Given the description of an element on the screen output the (x, y) to click on. 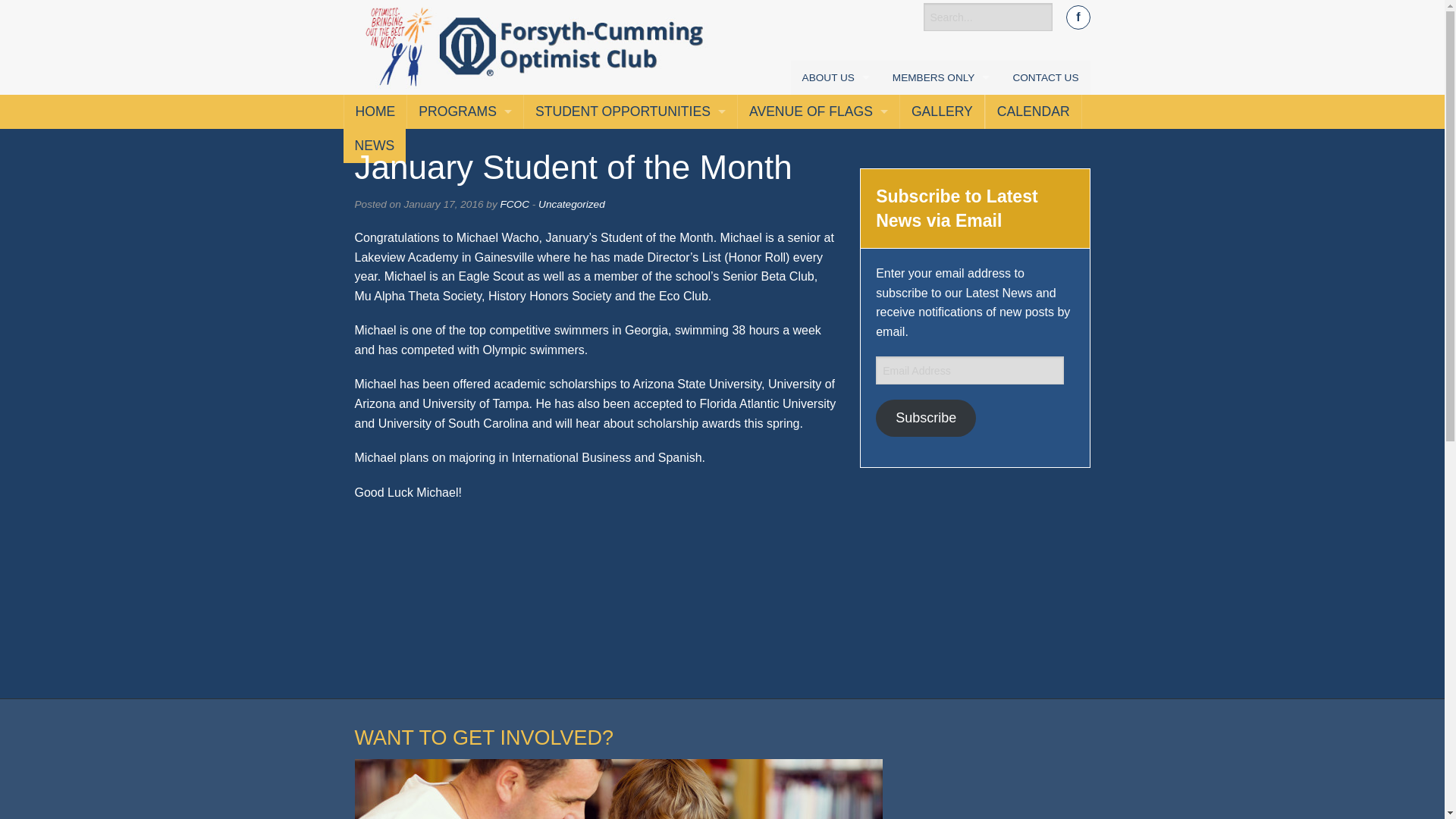
ABOUT US (835, 77)
CORRESPONDENCE (940, 145)
ESSAY CONTEST (630, 179)
LOCAL SCOUTING PARTNERSHIPS (818, 213)
PURPOSE (835, 179)
PROCLAMATION (835, 213)
CLUB DOCUMENTS (940, 179)
MEMBERSHIP DIRECTORY (940, 111)
HOME (375, 111)
MEMBERS ONLY (940, 77)
Posts by FCOC (514, 204)
Search for: (987, 17)
Search (44, 20)
FISHING DERBY (464, 179)
AVENUE OF FLAGS NEW SUBSCRIPTIONS (818, 145)
